Given the description of an element on the screen output the (x, y) to click on. 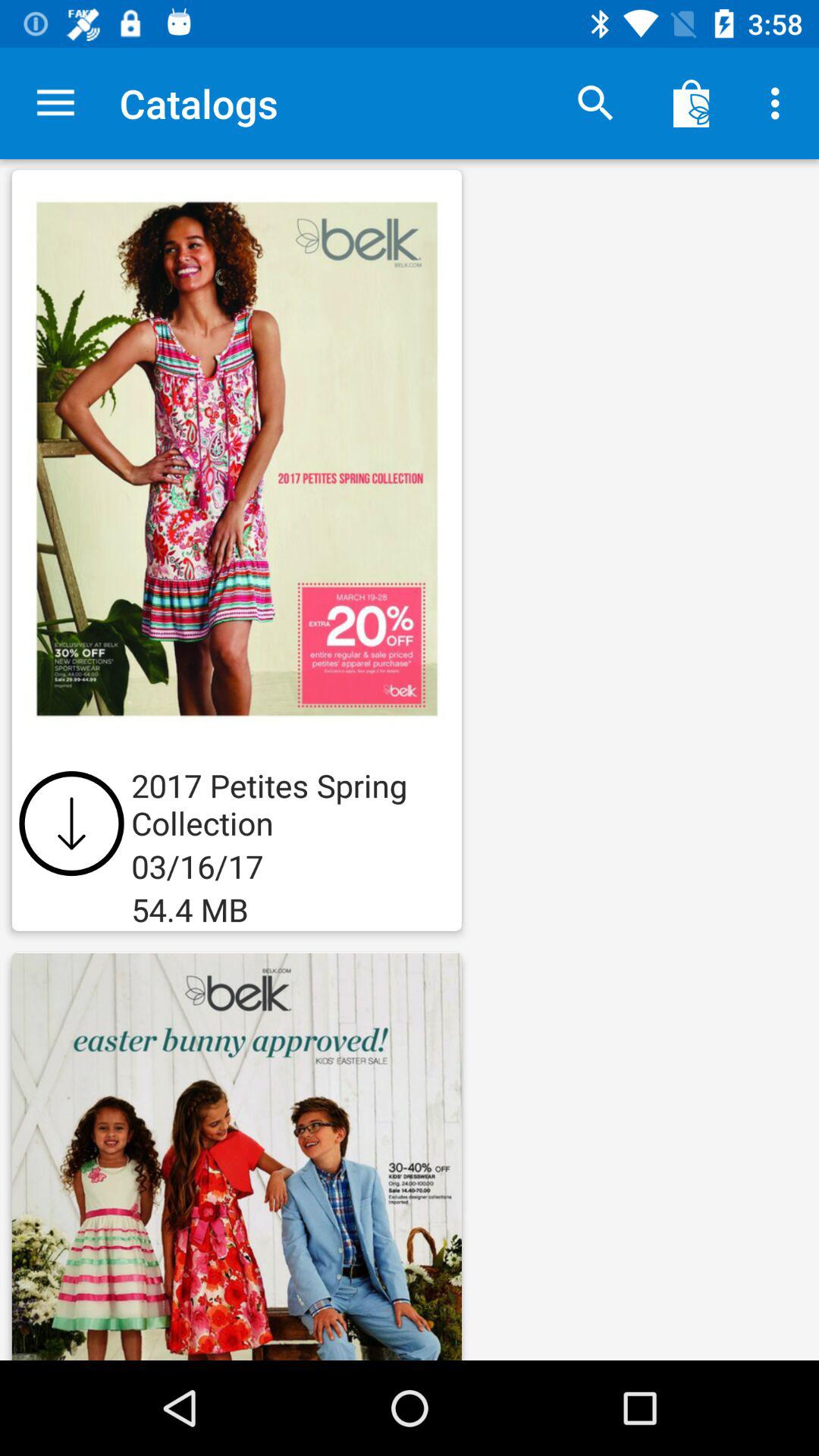
turn off the icon above the 54.4 mb item (71, 823)
